Given the description of an element on the screen output the (x, y) to click on. 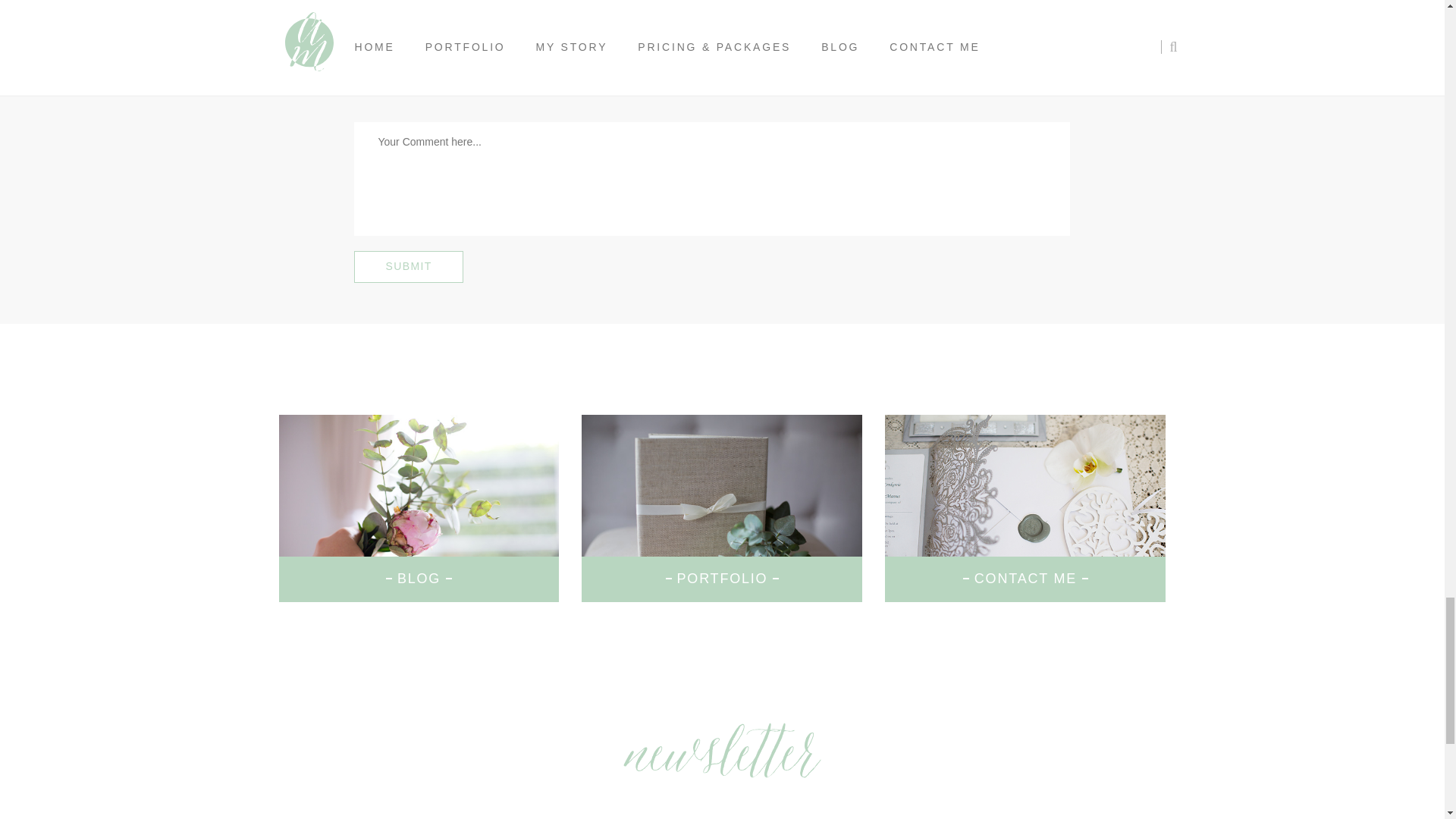
Submit (408, 266)
Submit (408, 266)
